Given the description of an element on the screen output the (x, y) to click on. 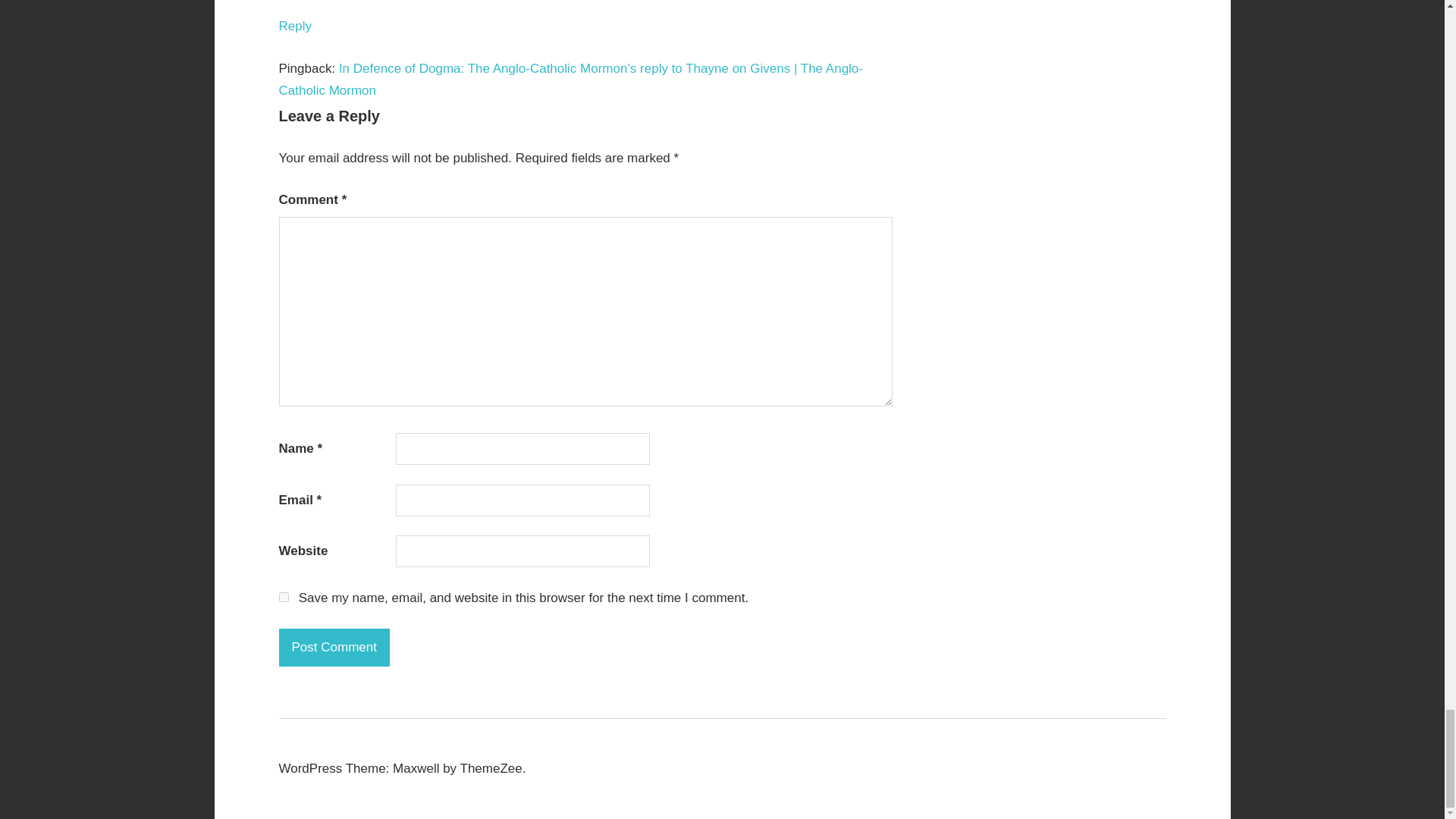
Post Comment (334, 647)
Reply (295, 25)
Post Comment (334, 647)
yes (283, 596)
